Given the description of an element on the screen output the (x, y) to click on. 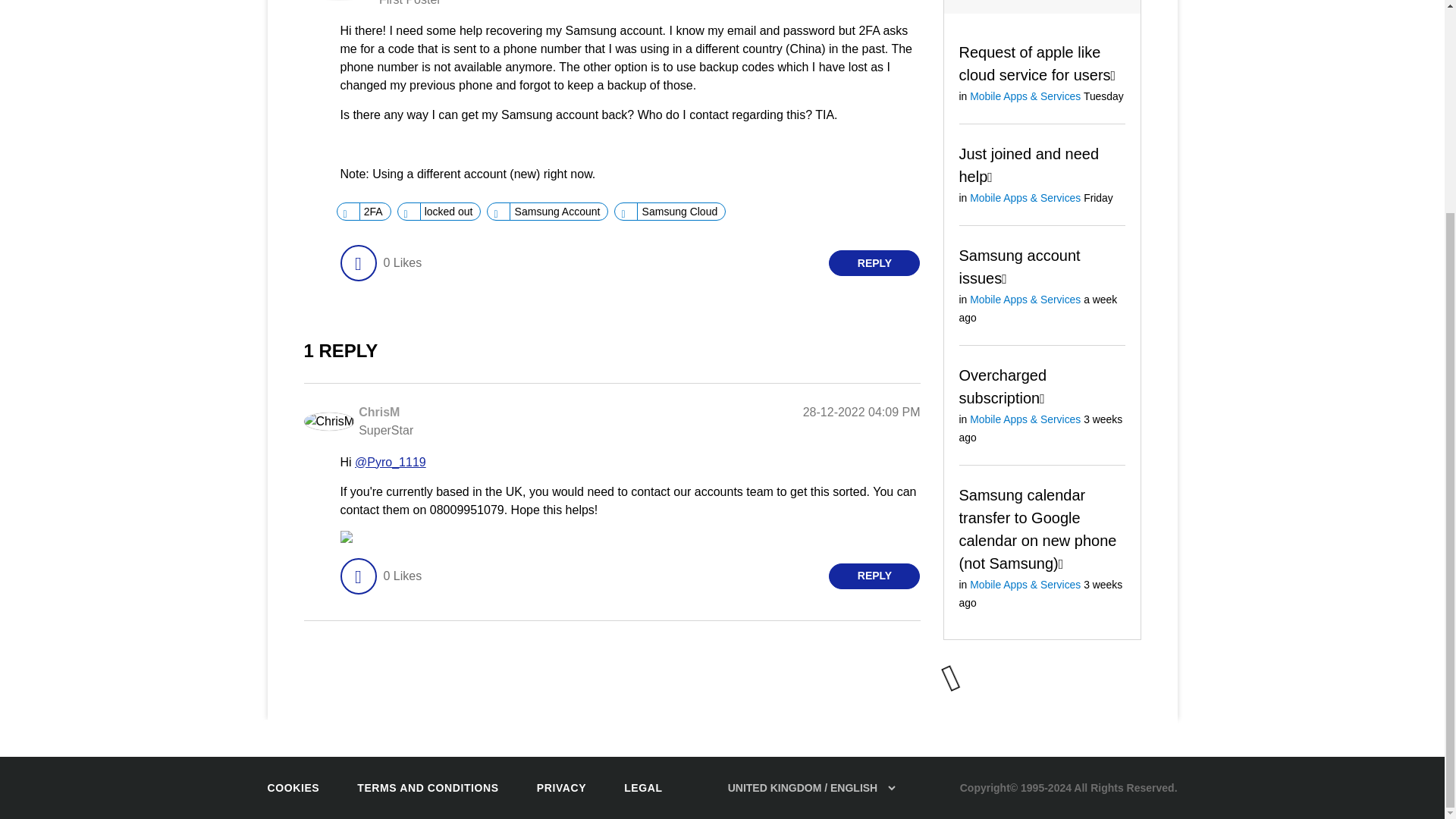
locked out (448, 211)
Samsung Account (556, 211)
2FA (373, 211)
ChrisM (378, 411)
The total number of likes this post has received. (401, 262)
REPLY (874, 263)
Click here to give likes to this post. (357, 262)
Samsung Cloud (678, 211)
